Given the description of an element on the screen output the (x, y) to click on. 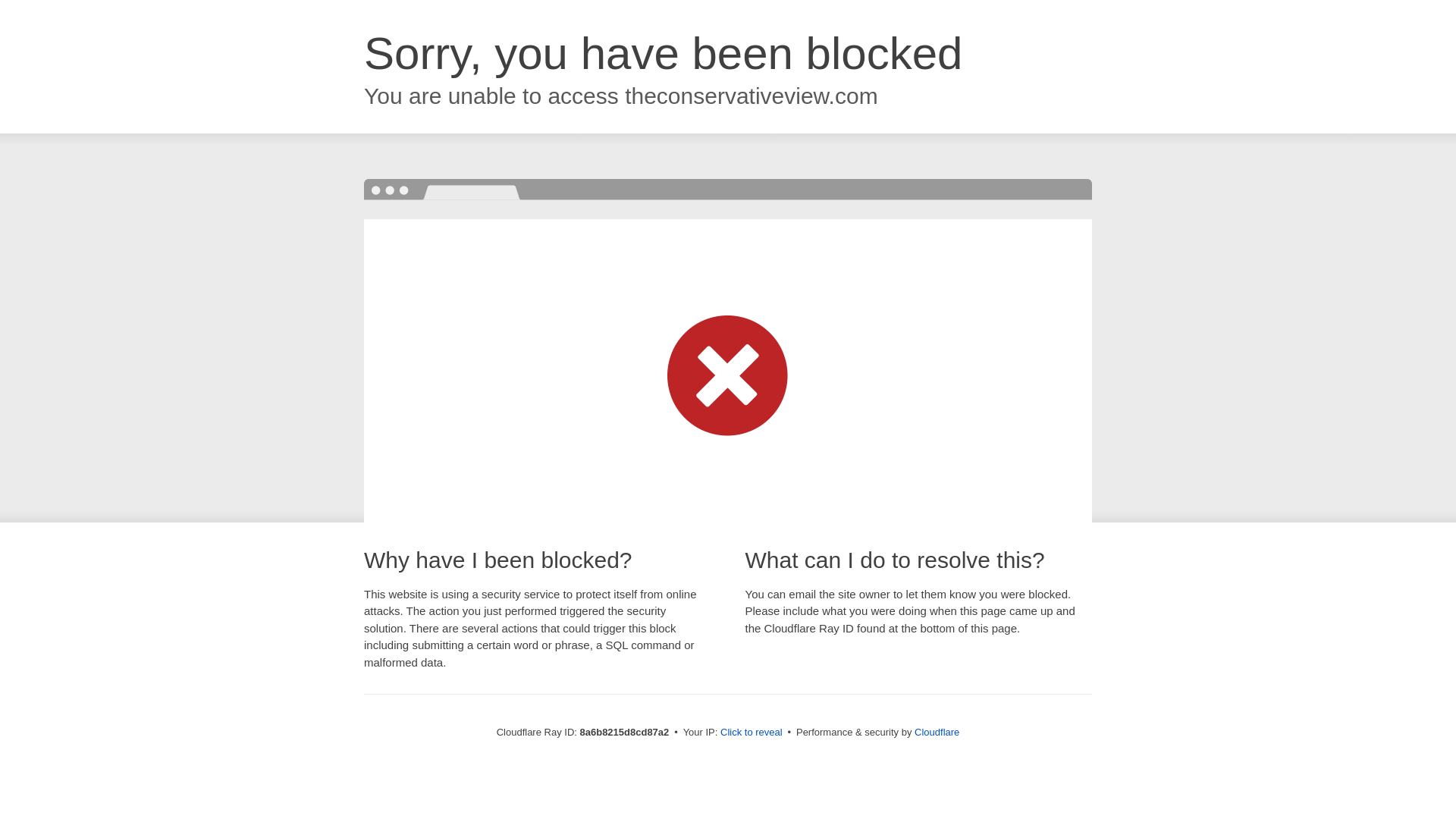
Cloudflare (936, 731)
Click to reveal (751, 732)
